Given the description of an element on the screen output the (x, y) to click on. 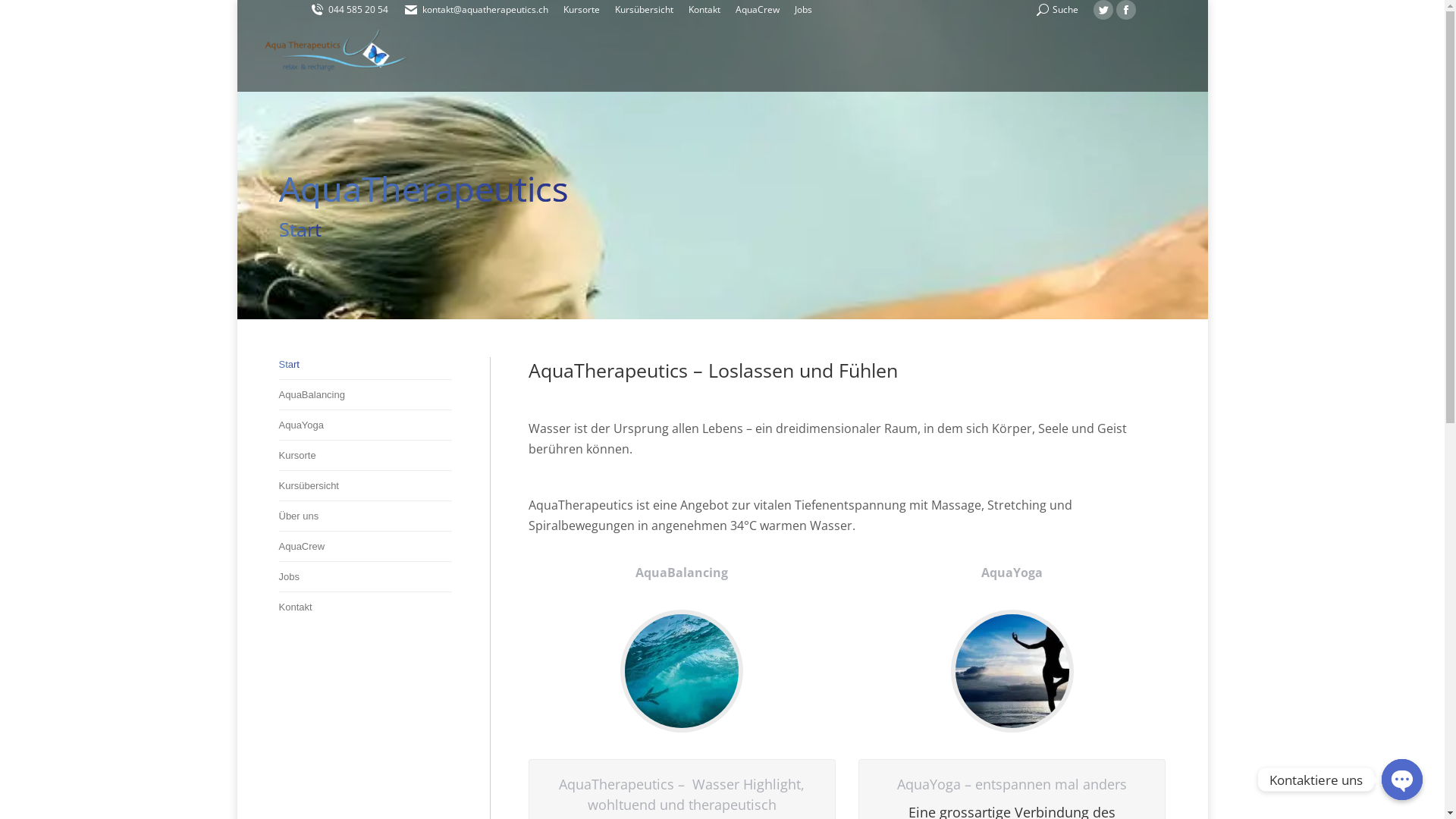
water_bg Element type: hover (681, 671)
Kontakt Element type: text (295, 607)
044 585 20 54 Element type: text (348, 9)
AquaBalancing Element type: text (681, 572)
AquaCrew Element type: text (757, 9)
Suche Element type: text (1056, 9)
Facebook page opens in new window Element type: text (1125, 9)
Kursorte Element type: text (297, 455)
kontakt@aquatherapeutics.ch Element type: text (475, 9)
Los! Element type: text (26, 17)
Twitter page opens in new window Element type: text (1103, 9)
AquaYoga Element type: text (1011, 572)
AquaCrew Element type: text (302, 546)
AquaBalancing Element type: text (312, 394)
AquaYoga5 Element type: hover (1012, 671)
AquaYoga Element type: text (301, 425)
Jobs Element type: text (803, 9)
Start Element type: text (289, 364)
Jobs Element type: text (289, 576)
Kontakt Element type: text (704, 9)
Kursorte Element type: text (580, 9)
